Given the description of an element on the screen output the (x, y) to click on. 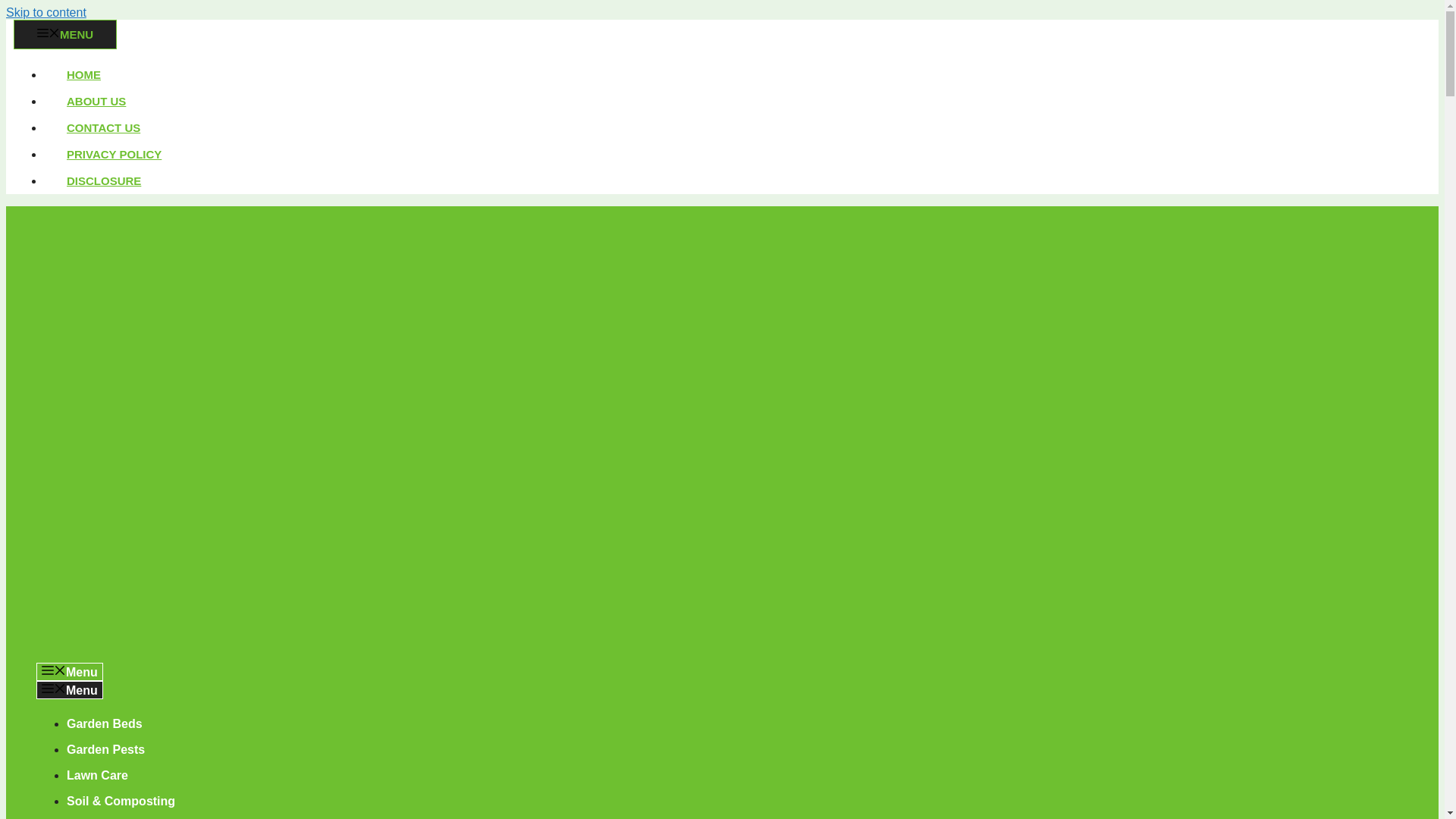
Skip to content (45, 11)
MENU (64, 34)
Garden Pests (105, 748)
ABOUT US (95, 101)
DISCLOSURE (103, 180)
Garden Beds (104, 723)
CONTACT US (103, 127)
Lawn Care (97, 775)
HOME (83, 74)
Menu (69, 689)
Menu (69, 671)
PRIVACY POLICY (113, 154)
Skip to content (45, 11)
